Given the description of an element on the screen output the (x, y) to click on. 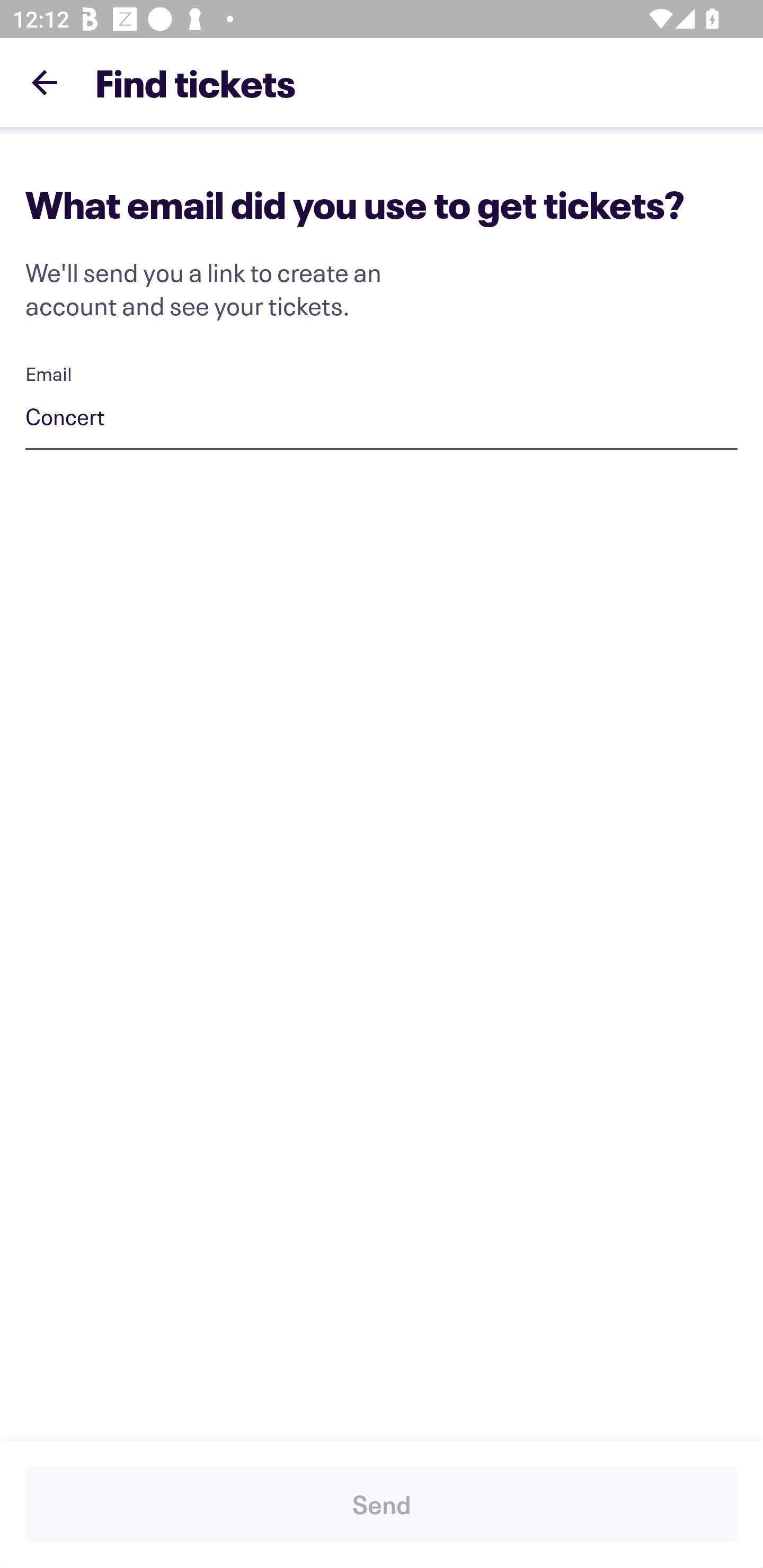
Navigate up (44, 82)
Concert (381, 419)
Send (381, 1504)
